Given the description of an element on the screen output the (x, y) to click on. 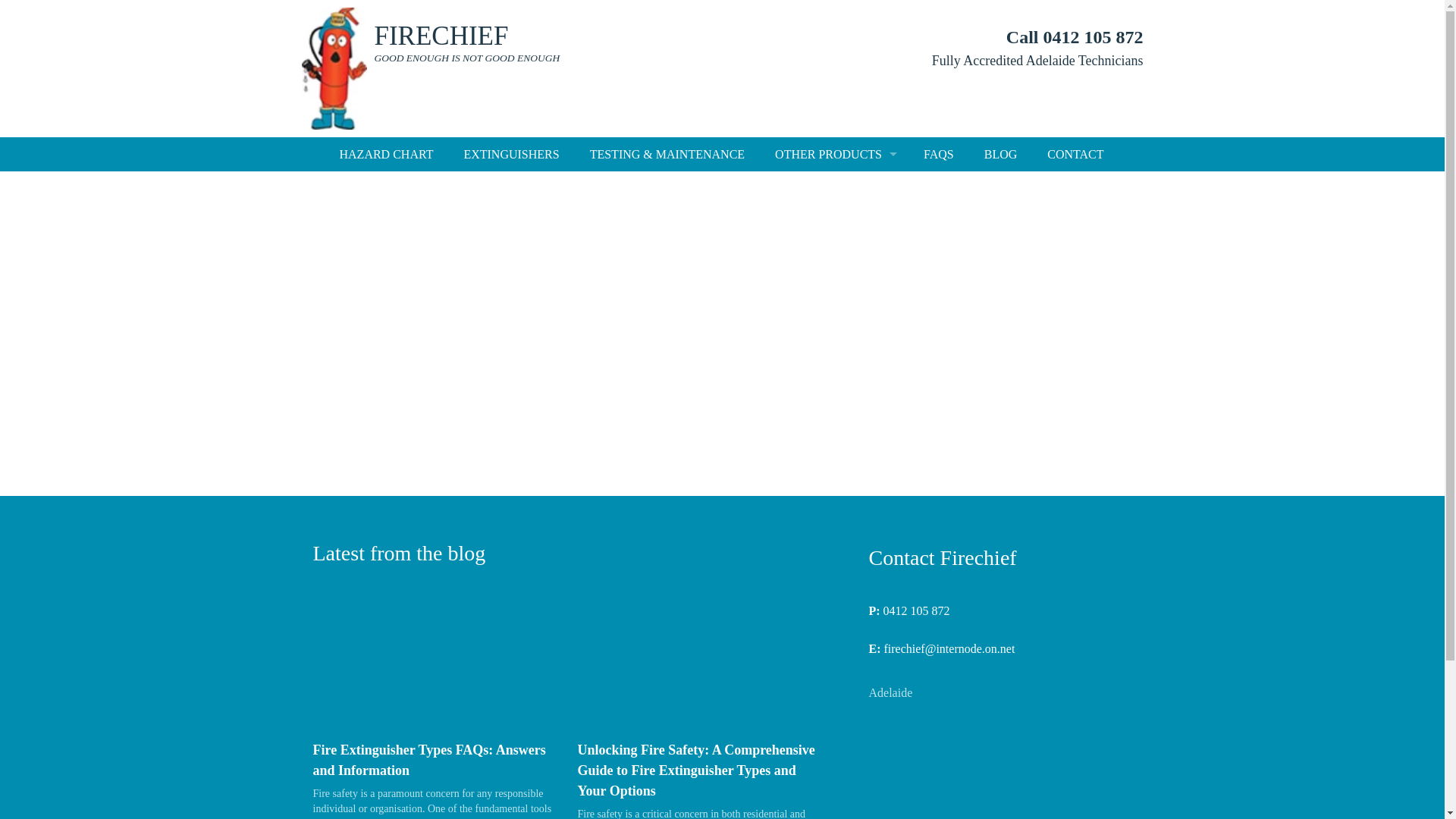
TESTING & MAINTENANCE Element type: text (666, 154)
BLOG Element type: text (1000, 154)
0412 105 872 Element type: text (1093, 37)
EXTINGUISHERS Element type: text (511, 154)
firechief@internode.on.net Element type: text (949, 648)
FAQS Element type: text (938, 154)
OTHER PRODUCTS Element type: text (833, 154)
0412 105 872 Element type: text (916, 610)
Fire Extinguisher Types FAQs: Answers and Information Element type: text (428, 760)
FIRECHIEF
GOOD ENOUGH IS NOT GOOD ENOUGH Element type: text (506, 42)
CONTACT Element type: text (1075, 154)
HAZARD CHART Element type: text (386, 154)
